Given the description of an element on the screen output the (x, y) to click on. 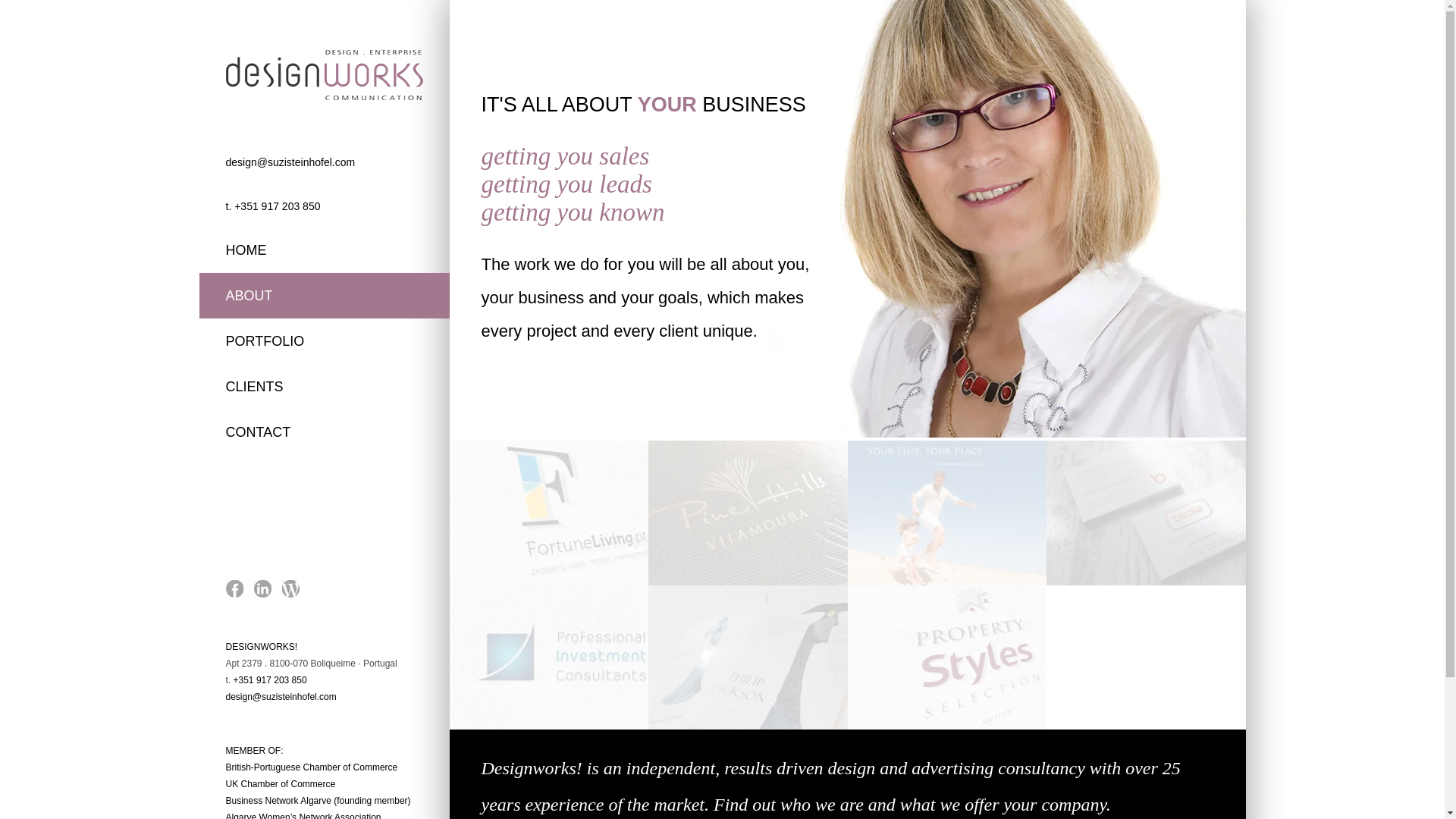
Follow us on Linkedin (261, 593)
Follow us on Facebook (234, 593)
PORTFOLIO (323, 340)
HOME (323, 249)
UK Chamber of Commerce (280, 783)
CLIENTS (323, 386)
Follow us on Wordpress (290, 593)
British-Portuguese Chamber of Commerce (311, 767)
ABOUT (323, 295)
CONTACT (323, 432)
